Given the description of an element on the screen output the (x, y) to click on. 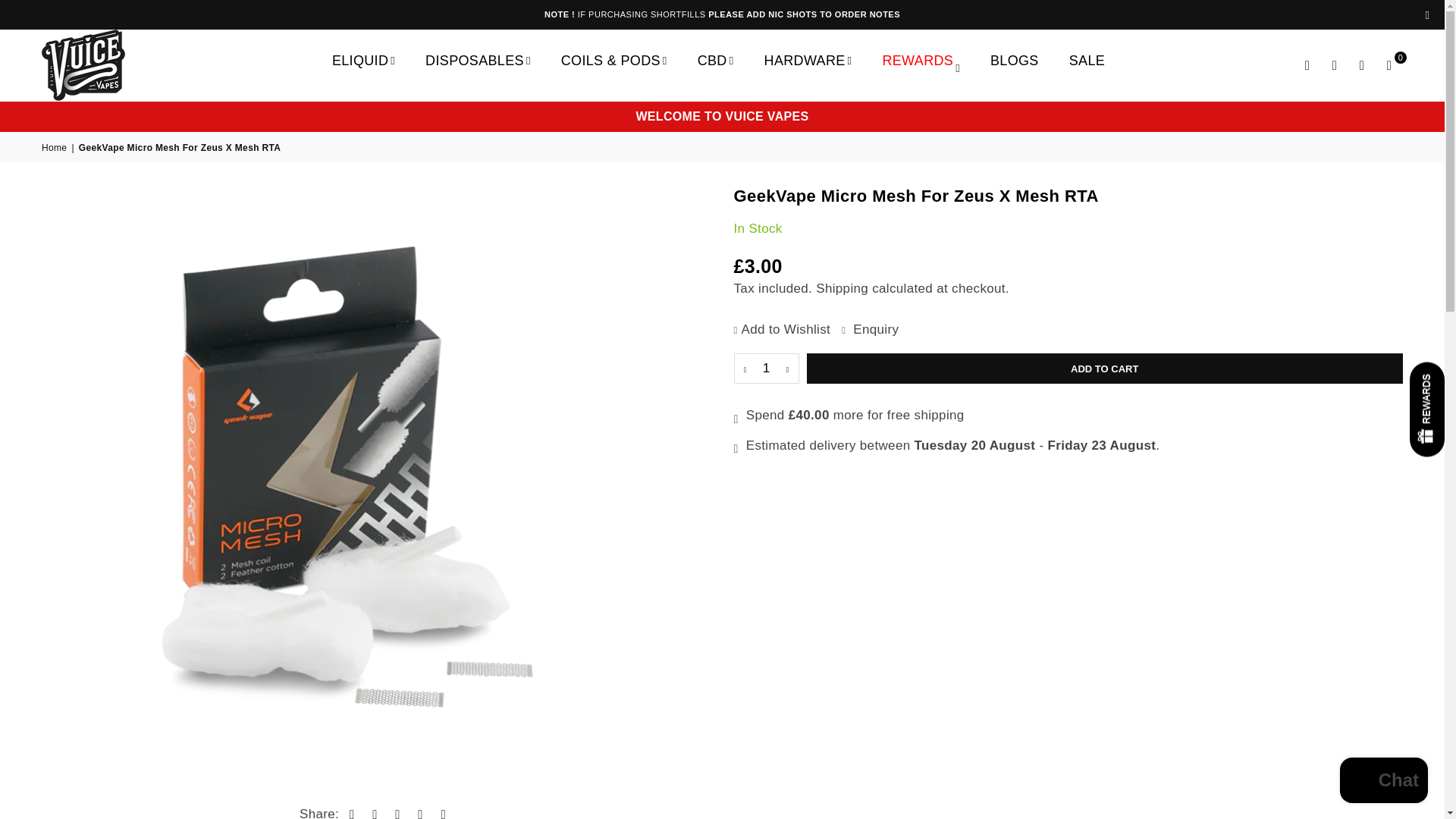
Quantity (766, 368)
Settings (1334, 64)
Wishlist (1361, 64)
Cart (1389, 64)
Search (1307, 64)
Back to the home page (55, 147)
VUICEVAPES (106, 64)
ELIQUID (363, 60)
